Given the description of an element on the screen output the (x, y) to click on. 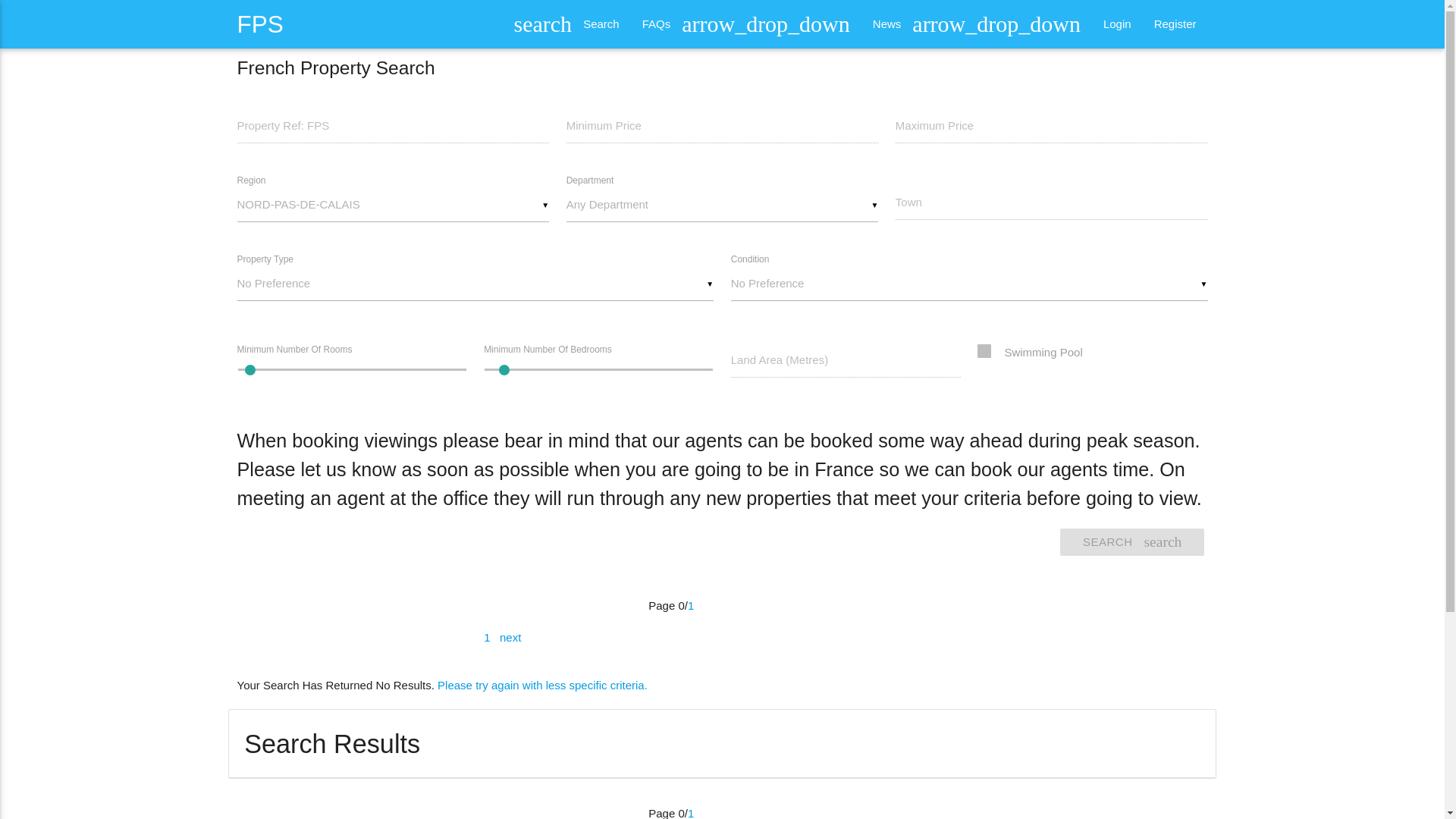
1 (488, 636)
No Preference (969, 283)
Any Department (722, 204)
NORD-PAS-DE-CALAIS (391, 204)
Register (1175, 24)
1 (690, 604)
next (510, 636)
Login (1117, 24)
Register (1131, 542)
